Given the description of an element on the screen output the (x, y) to click on. 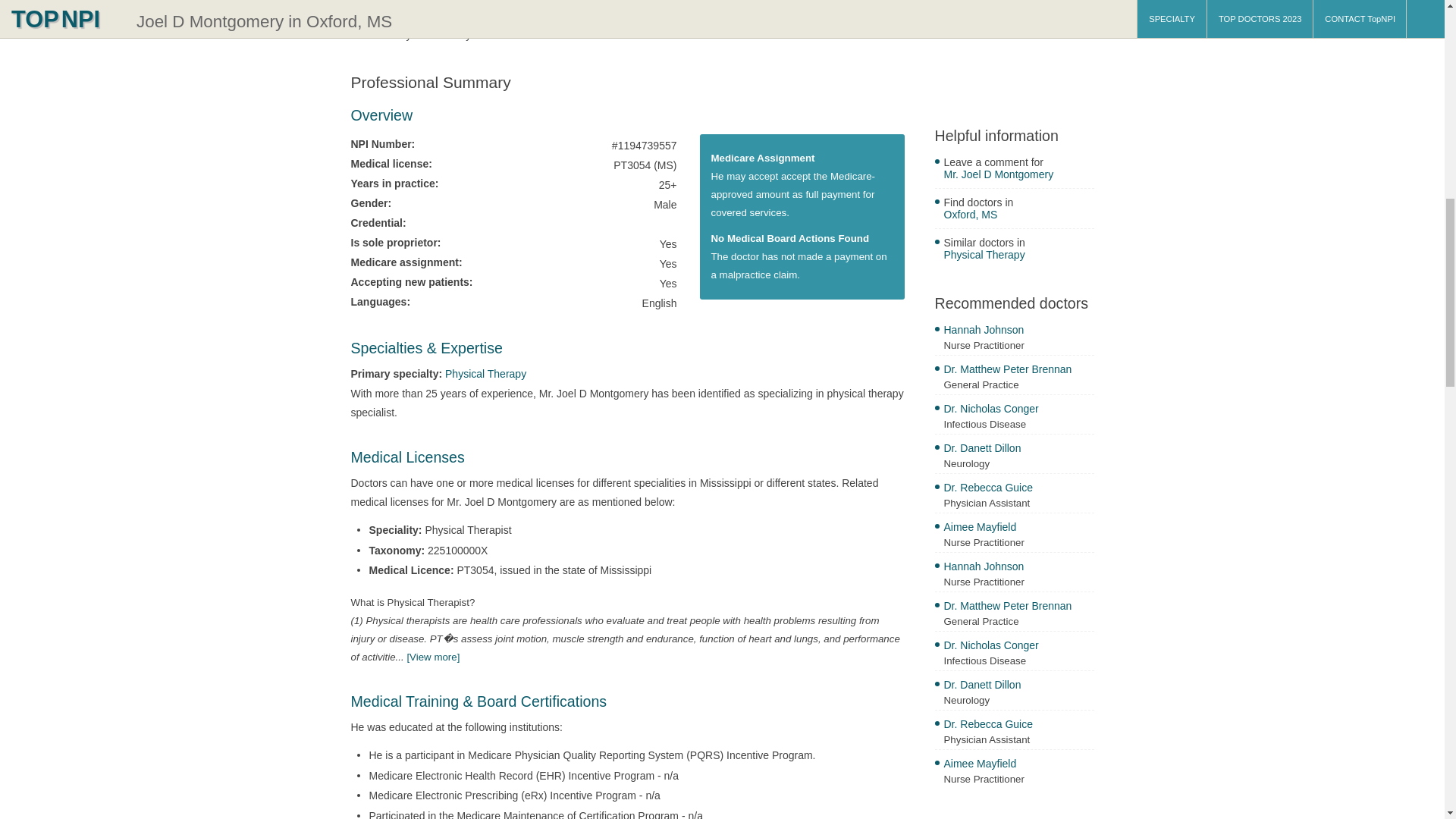
Dr. Rebecca Guice (1018, 489)
Aimee Mayfield (1018, 528)
Dr. Nicholas Conger (1018, 647)
Dr. Danett Dillon (1018, 686)
Aimee Mayfield (1018, 765)
Hannah Johnson (1018, 568)
Health Care Provider Taxonomy Code (433, 656)
Dr. Matthew Peter Brennan (1018, 607)
Physical Therapy (485, 373)
Dr. Matthew Peter Brennan (1018, 371)
Hannah Johnson (1018, 331)
Mr. Joel D Montgomery (1018, 176)
Dr. Rebecca Guice (1018, 725)
Dr. Danett Dillon (1018, 449)
Physical Therapy (1018, 256)
